Given the description of an element on the screen output the (x, y) to click on. 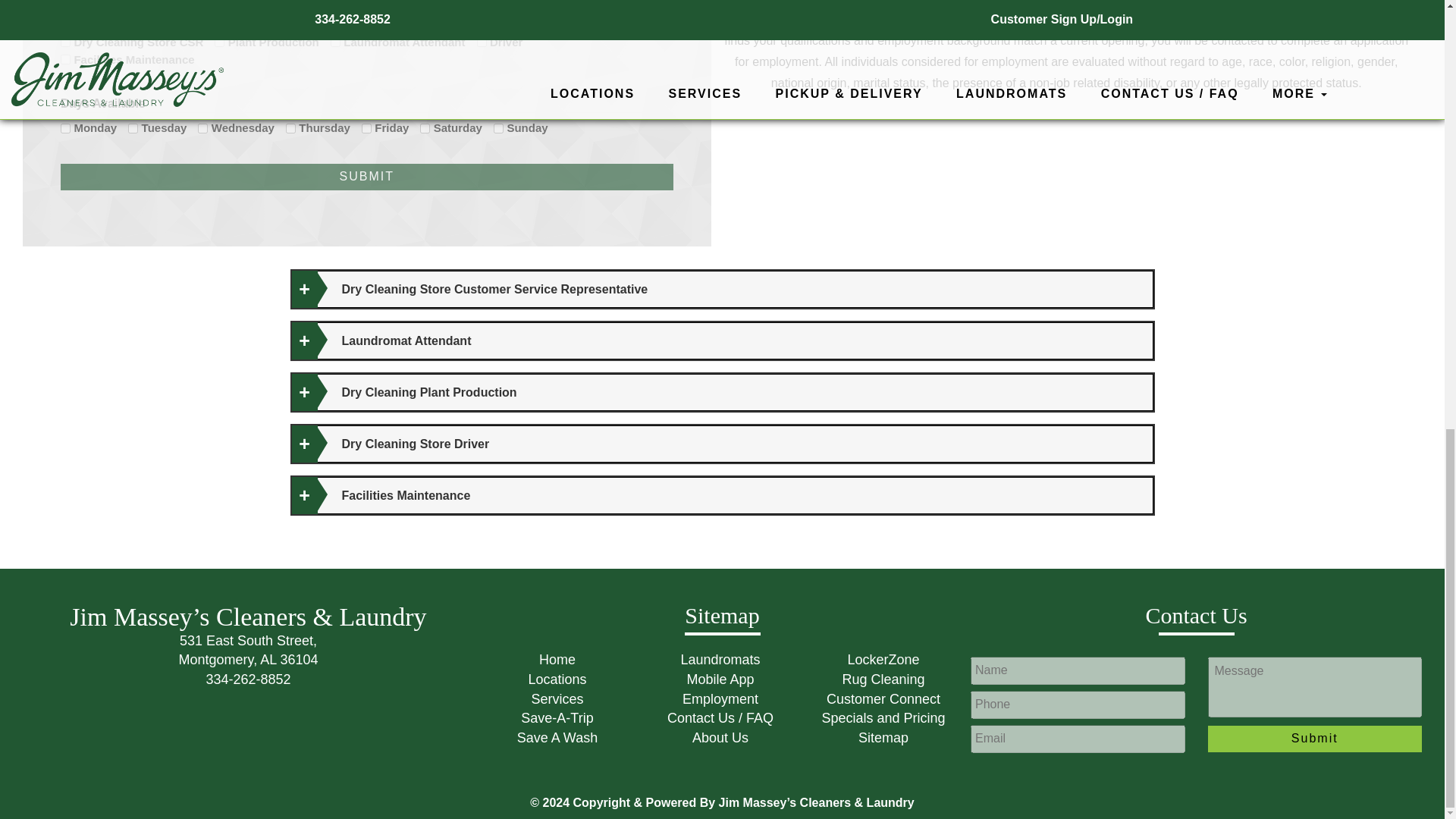
Monday (65, 128)
Facilities Maintenance (65, 59)
Dry Cleaning Store CSR (65, 41)
Friday (366, 128)
Thursday (290, 128)
Driver (481, 41)
Wednesday (203, 128)
Plant Production (219, 41)
334-262-8852 (247, 679)
Tuesday (133, 128)
Submit (366, 176)
Laundromat Attendant (335, 41)
